Given the description of an element on the screen output the (x, y) to click on. 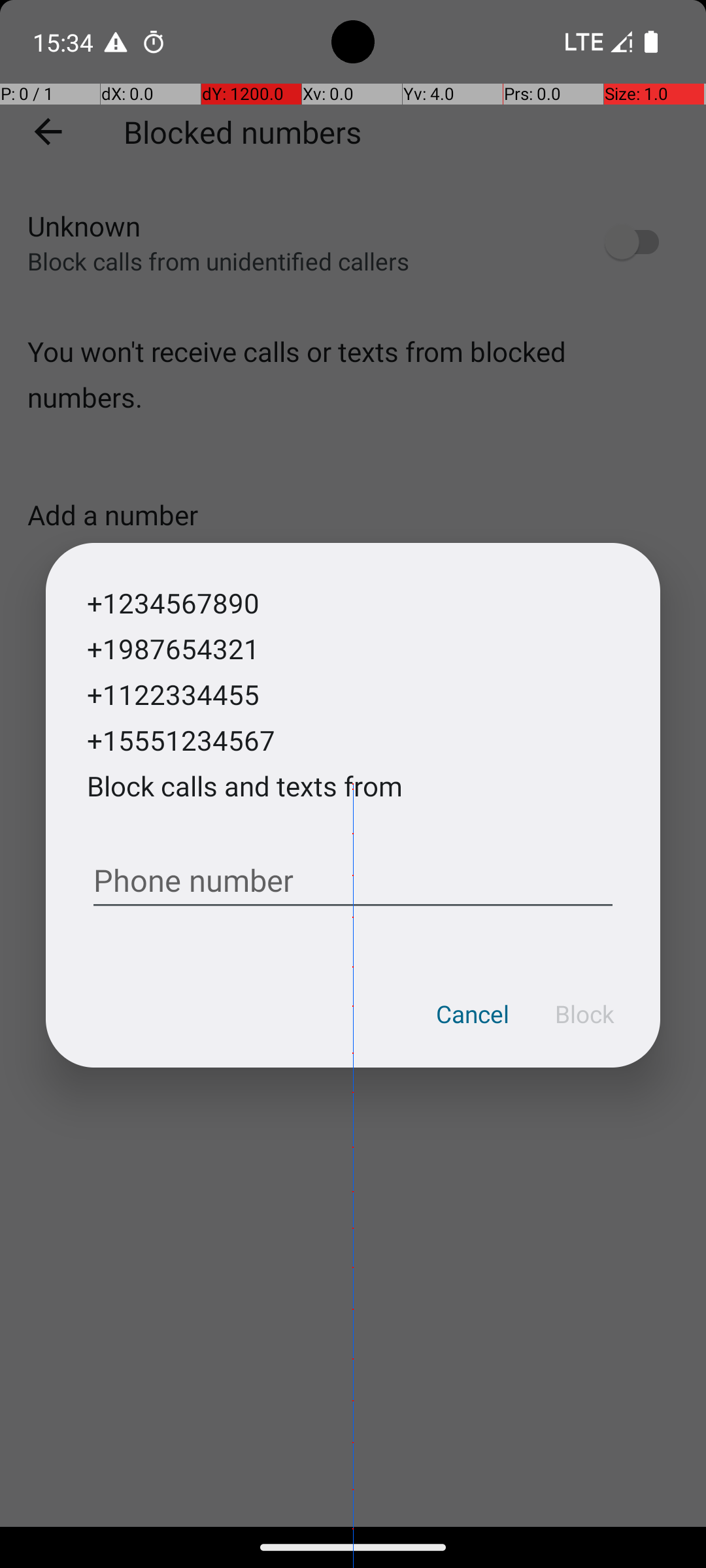
+1234567890
+1987654321
+1122334455
+15551234567
Block calls and texts from Element type: android.widget.TextView (244, 707)
Phone number Element type: android.widget.EditText (352, 875)
Block Element type: android.widget.Button (584, 1013)
